Given the description of an element on the screen output the (x, y) to click on. 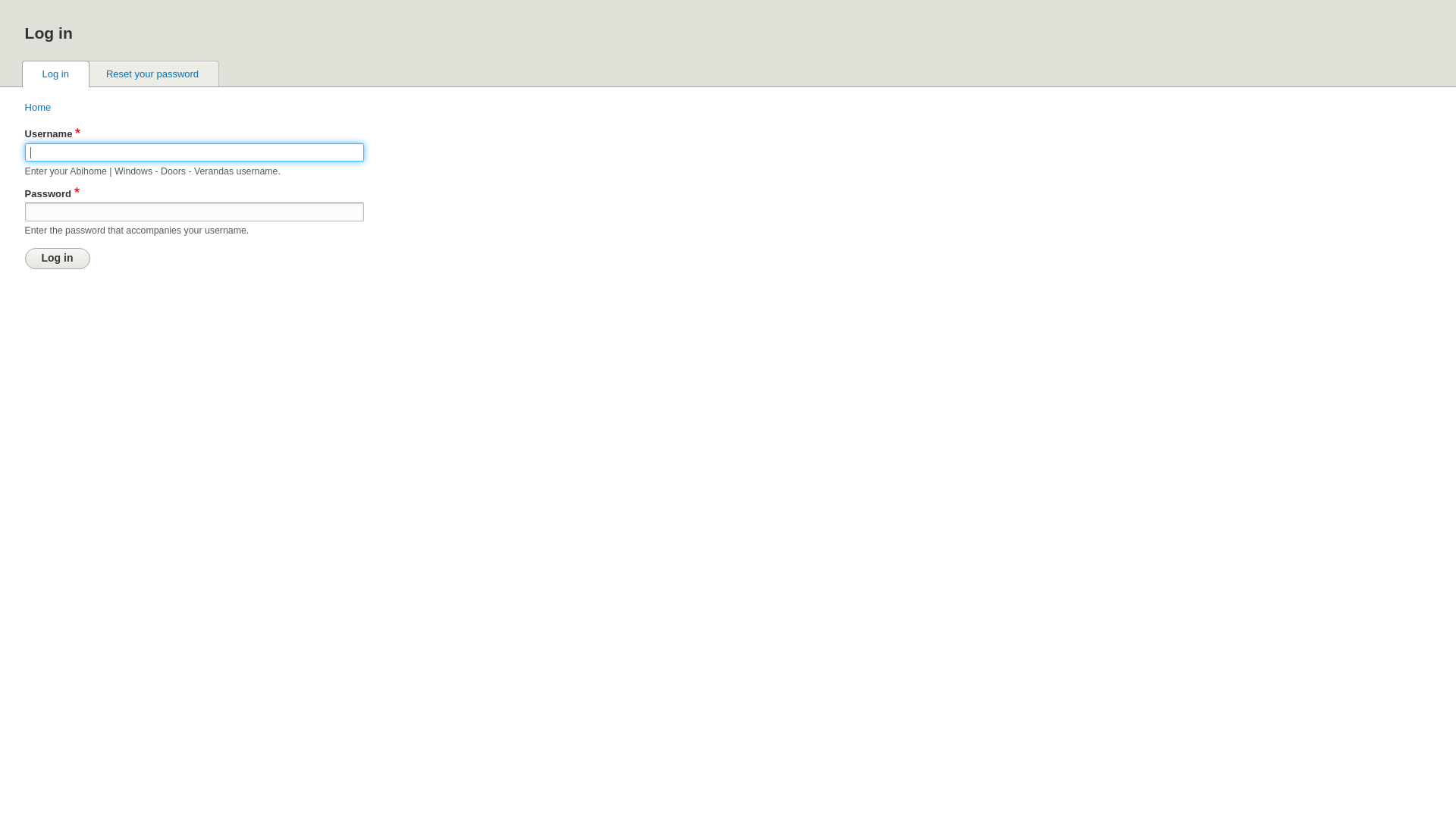
Log in Element type: text (57, 258)
Log in
(active tab) Element type: text (55, 74)
Skip to main content Element type: text (728, 1)
Home Element type: text (38, 106)
Reset your password Element type: text (152, 74)
